Given the description of an element on the screen output the (x, y) to click on. 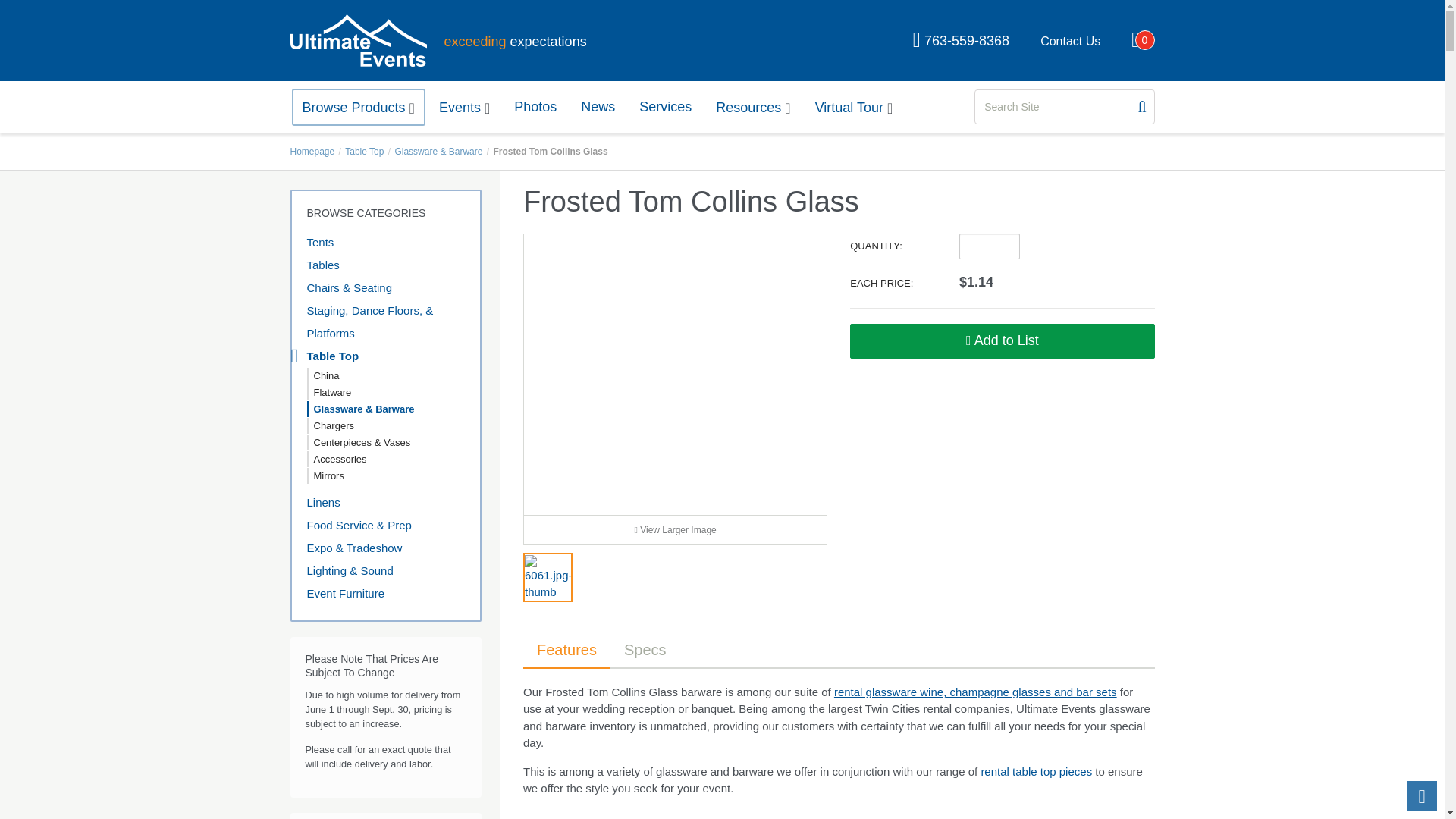
Contact Us (1070, 41)
0 (1135, 41)
Browse Products (358, 107)
Search (1141, 106)
763-559-8368 (961, 41)
